Given the description of an element on the screen output the (x, y) to click on. 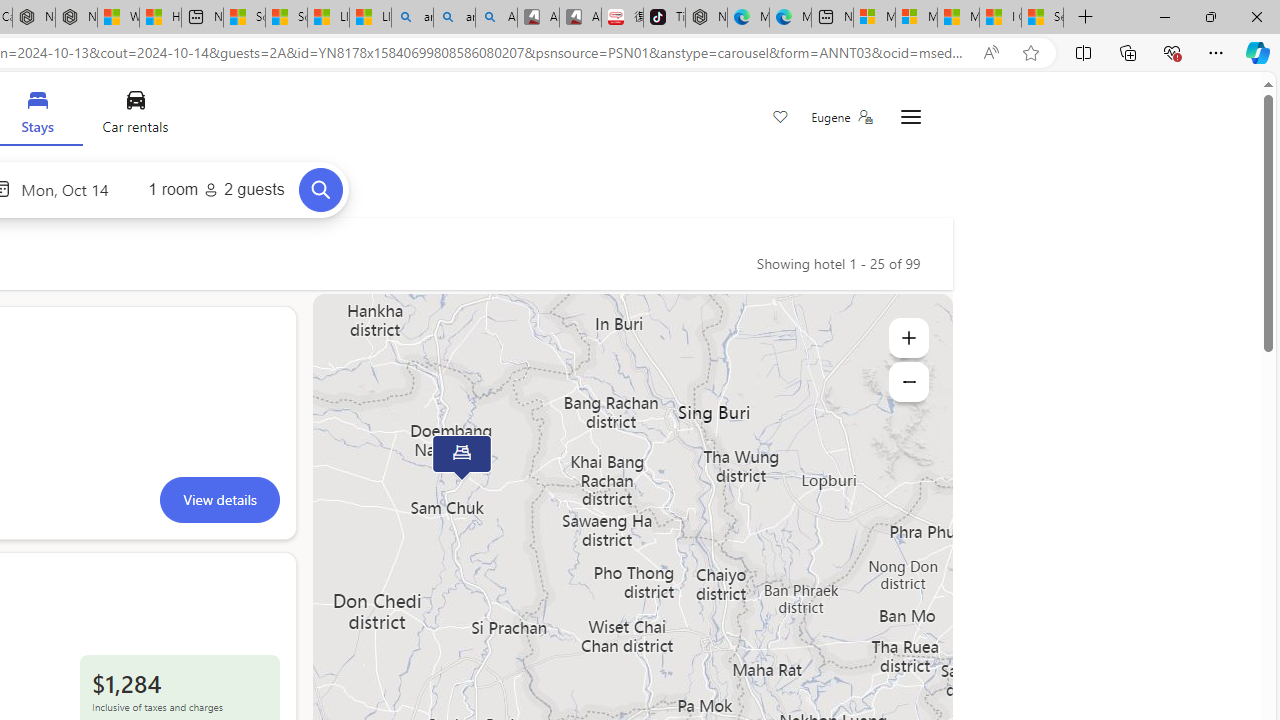
Settings and more (Alt+F) (1215, 52)
Zoom in (908, 337)
Save (780, 118)
Restore (1210, 16)
Add this page to favorites (Ctrl+D) (1030, 53)
New tab (831, 17)
Microsoft Start (958, 17)
Close (1256, 16)
Microsoft account | Privacy (916, 17)
Save (780, 118)
Copilot (Ctrl+Shift+.) (1258, 52)
Split screen (1083, 52)
